Given the description of an element on the screen output the (x, y) to click on. 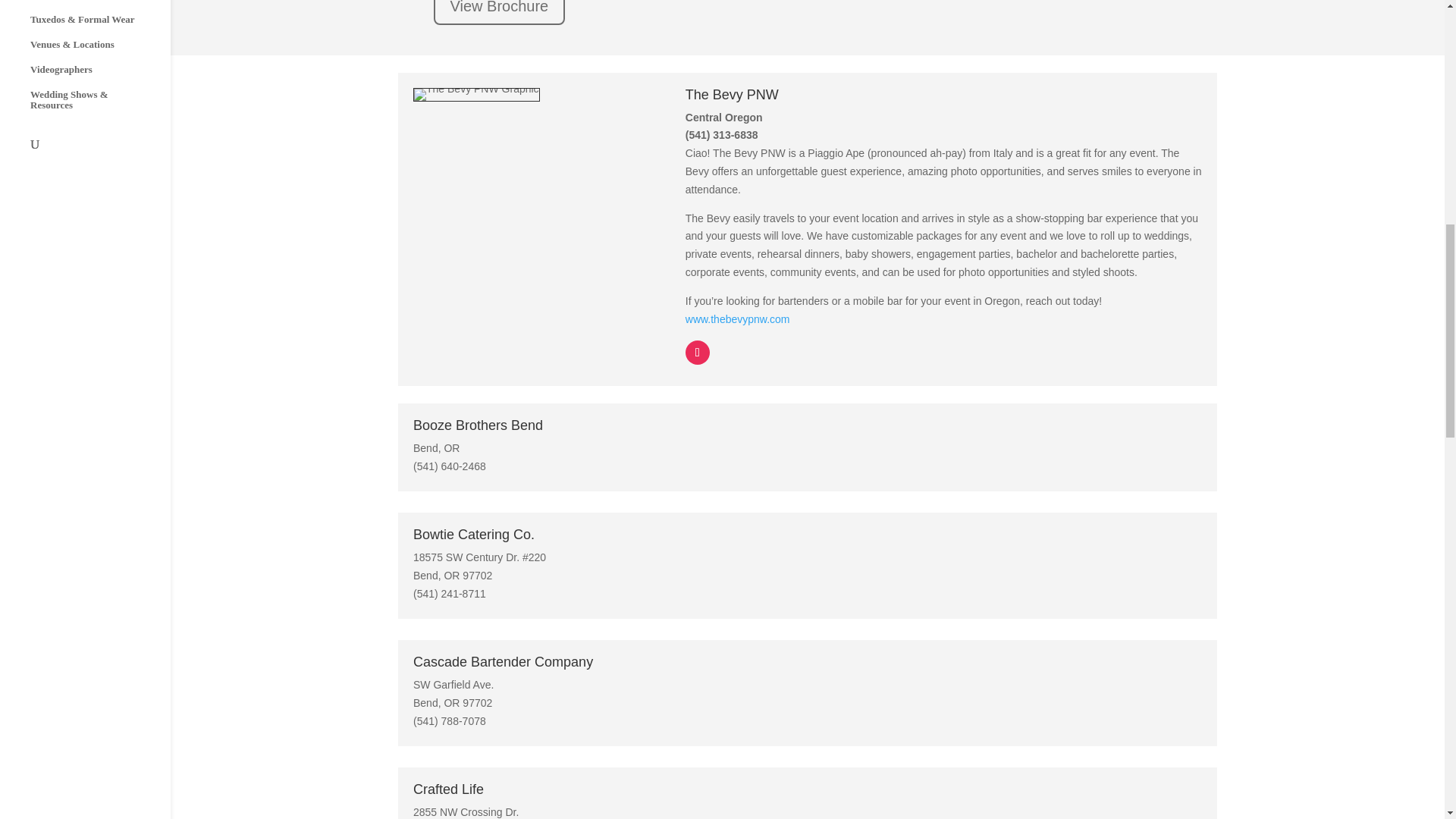
Follow on Instagram (697, 352)
The Bevy PNW Graphic (475, 94)
Videographers (100, 76)
Travel Agencies (100, 7)
